Given the description of an element on the screen output the (x, y) to click on. 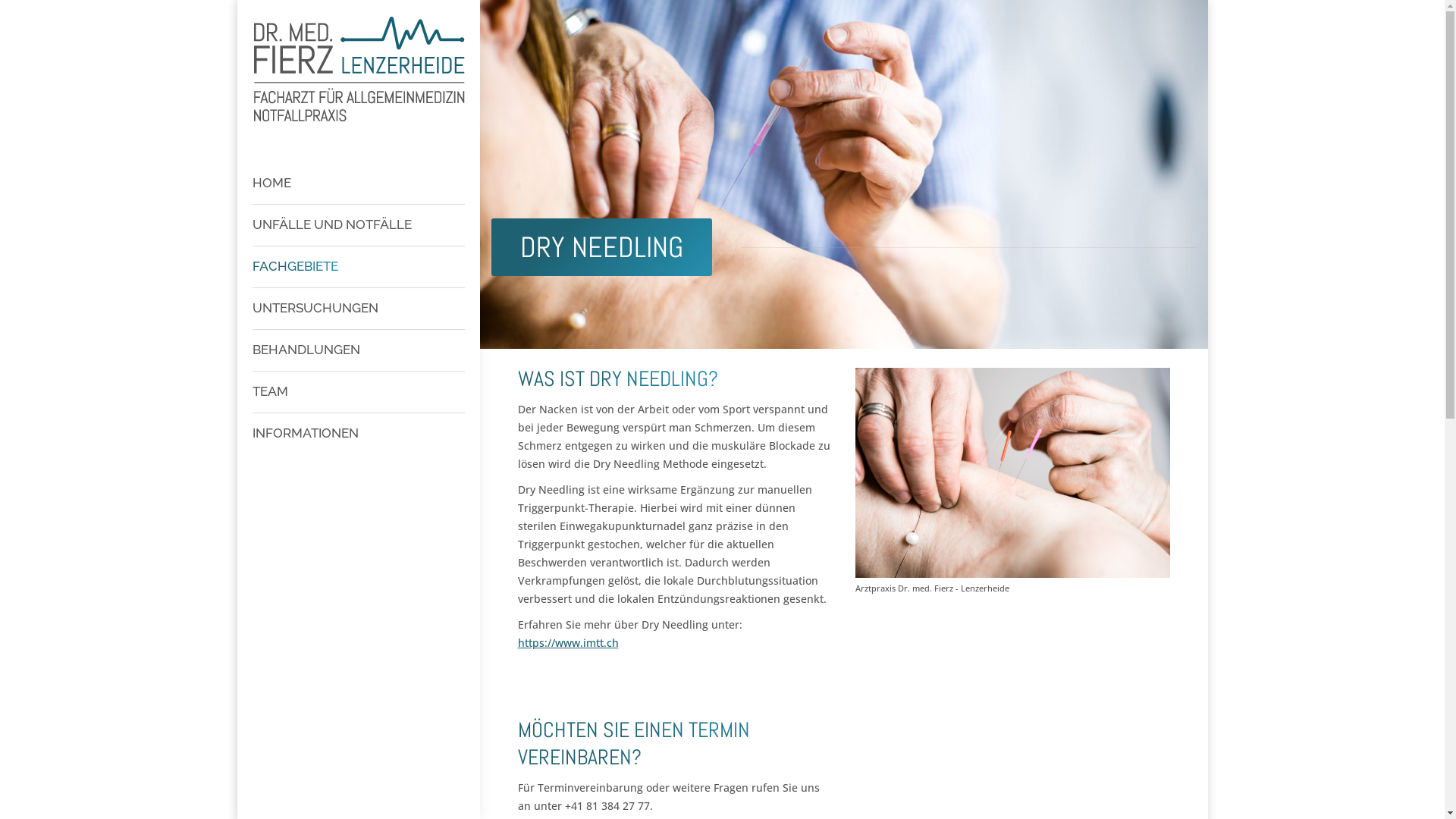
Los! Element type: text (25, 15)
HOME Element type: text (357, 183)
https://www.imtt.ch Element type: text (567, 642)
BEHANDLUNGEN Element type: text (357, 349)
FACHGEBIETE Element type: text (357, 266)
INFORMATIONEN Element type: text (357, 433)
UNTERSUCHUNGEN Element type: text (357, 308)
TEAM Element type: text (357, 391)
